Given the description of an element on the screen output the (x, y) to click on. 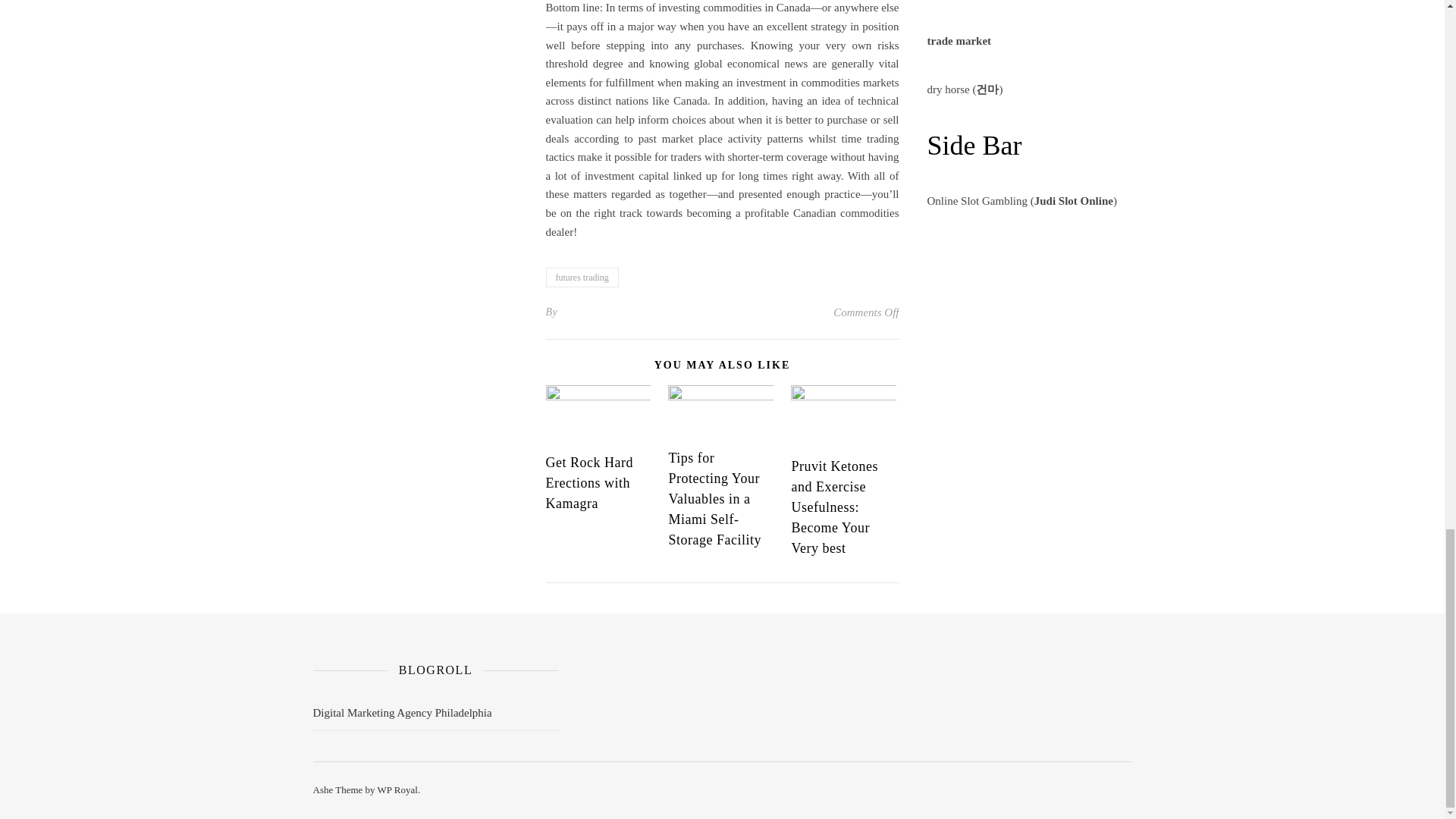
Get Rock Hard Erections with Kamagra (589, 483)
futures trading (582, 277)
